Given the description of an element on the screen output the (x, y) to click on. 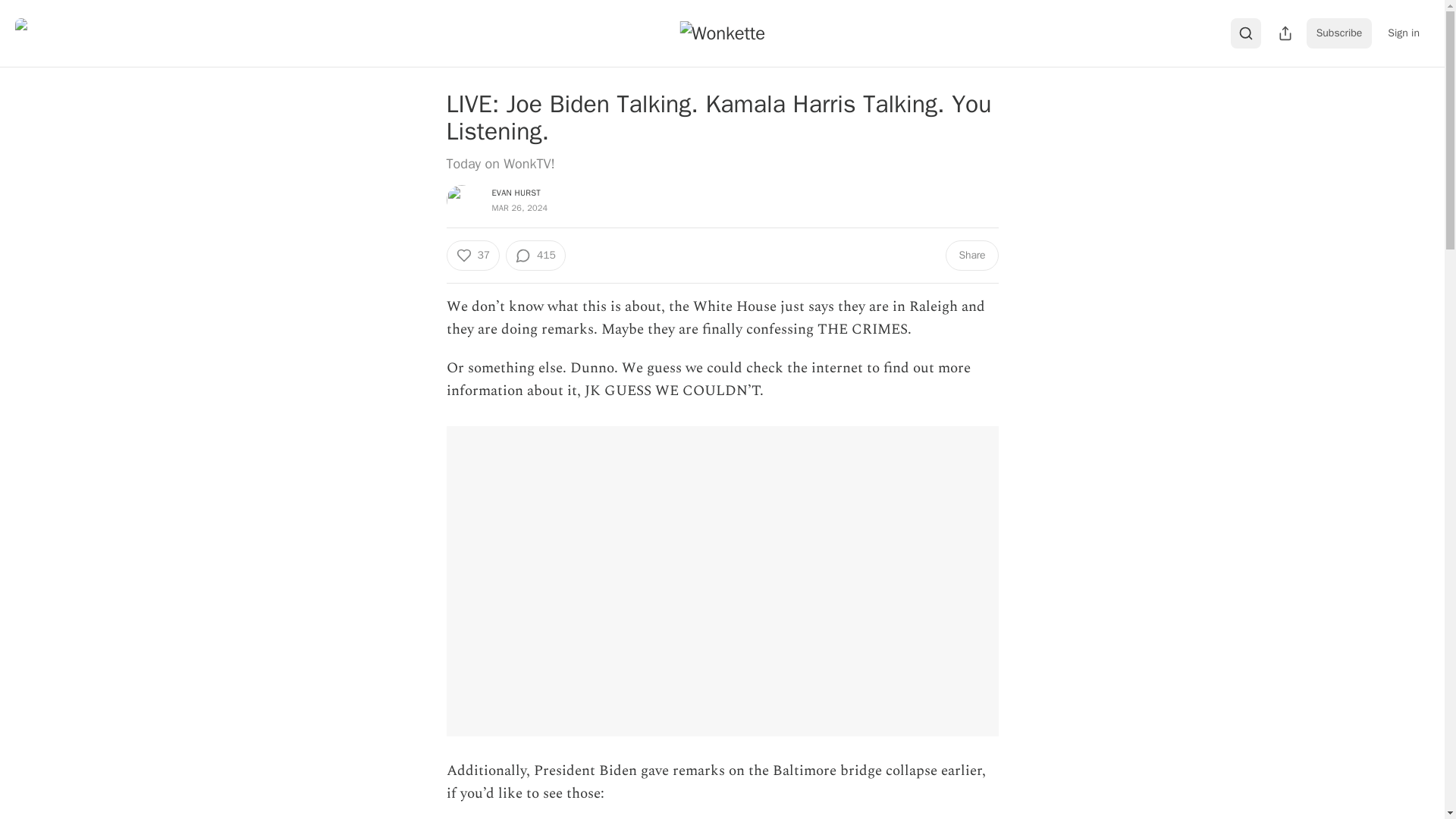
Subscribe (1339, 33)
Sign in (1403, 33)
EVAN HURST (516, 192)
Share (970, 255)
37 (472, 255)
415 (535, 255)
